Given the description of an element on the screen output the (x, y) to click on. 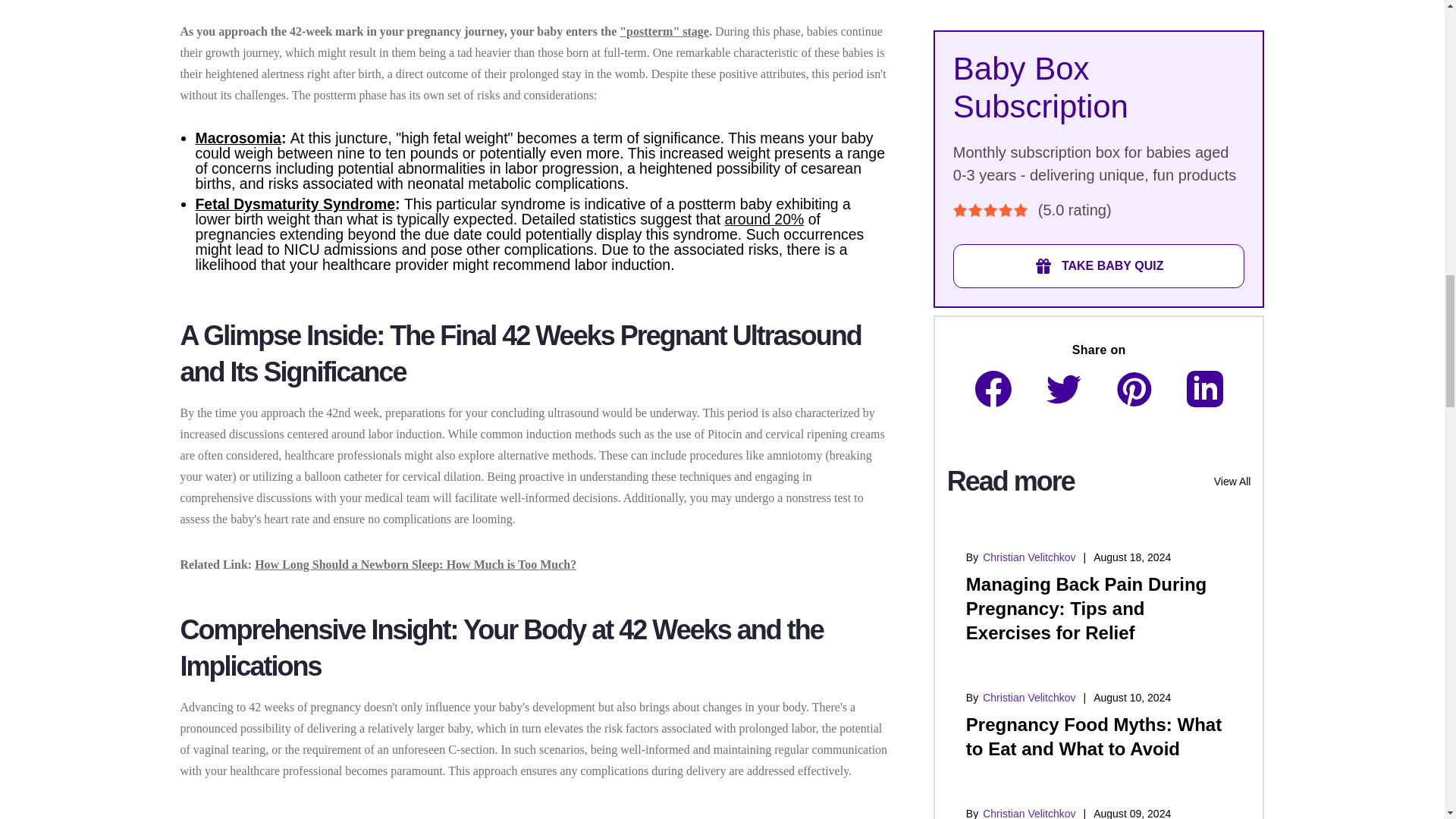
Fetal Dysmaturity Syndrome (295, 203)
Macrosomia (238, 137)
How Long Should a Newborn Sleep: How Much is Too Much? (415, 563)
"postterm" stage (664, 31)
